Given the description of an element on the screen output the (x, y) to click on. 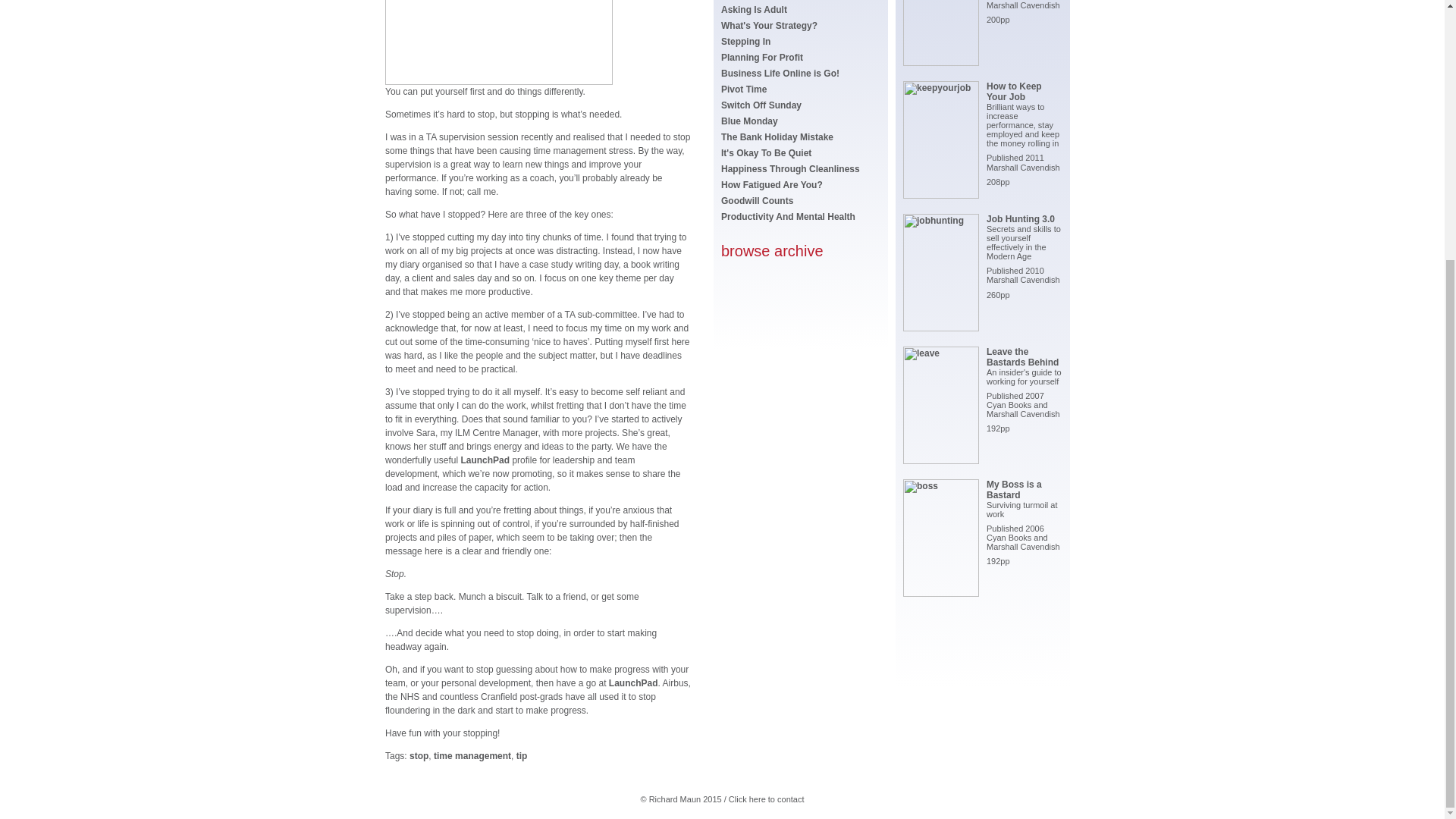
More information (484, 459)
Look What's Your Strategy? (768, 25)
Look Switch Off Sunday (761, 104)
Look Blue Monday (748, 121)
Planning For Profit (761, 57)
Look Business Life Online is Go! (780, 72)
Business Life Online is Go! (780, 72)
Look Asking Is Adult (753, 9)
time management (472, 755)
Look It's Okay To Be Quiet (765, 153)
Look Stepping In (745, 41)
stop (418, 755)
Look Planning For Profit (761, 57)
Look Pivot Time (743, 89)
Stepping In (745, 41)
